Given the description of an element on the screen output the (x, y) to click on. 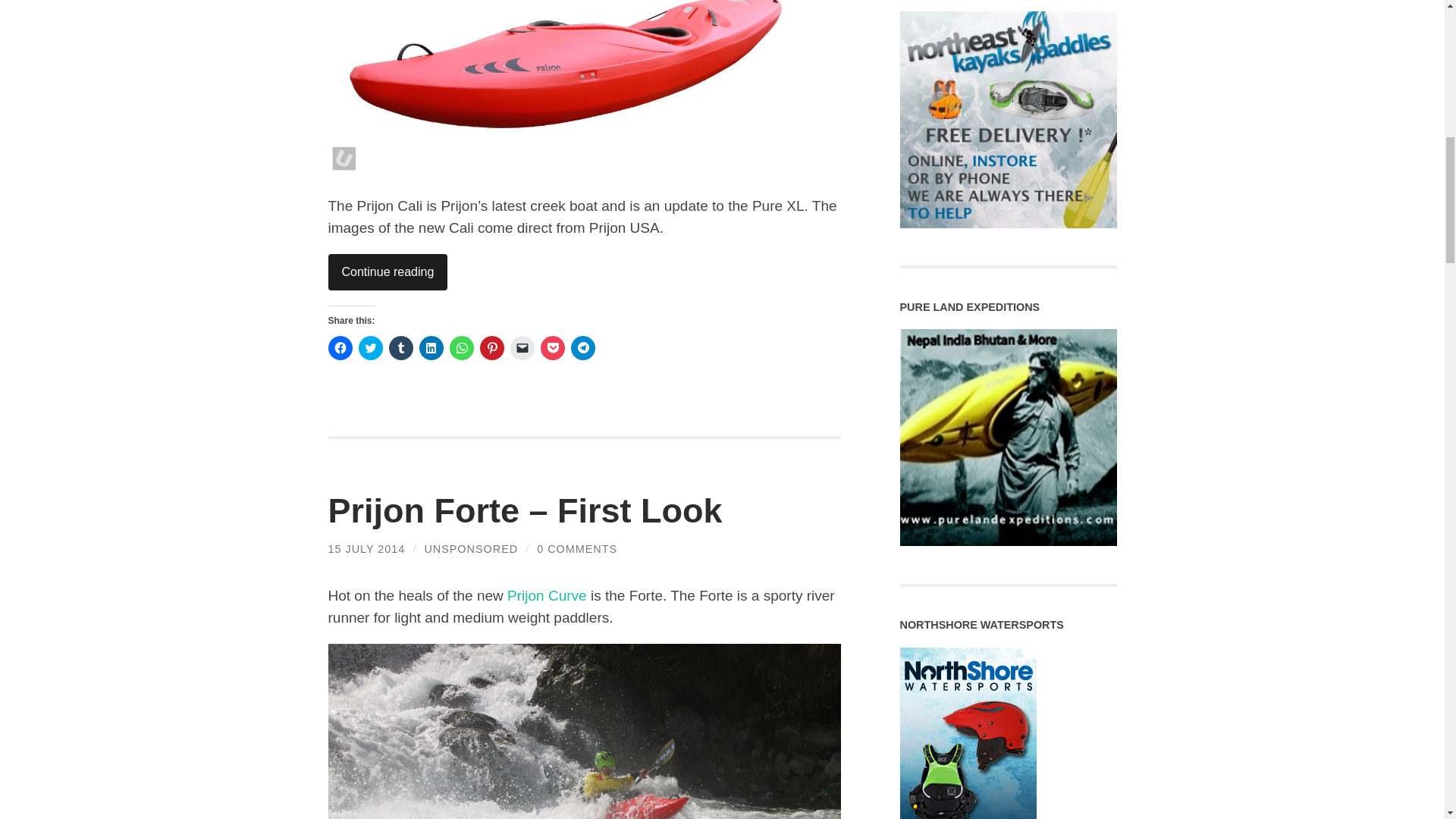
Click to share on WhatsApp (460, 347)
Click to share on Pocket (552, 347)
Click to share on Facebook (339, 347)
Click to share on LinkedIn (430, 347)
Click to share on Pinterest (491, 347)
Click to share on Telegram (582, 347)
Posts by Unsponsored (470, 548)
Click to email a link to a friend (521, 347)
Click to share on Twitter (369, 347)
Click to share on Tumblr (400, 347)
